Given the description of an element on the screen output the (x, y) to click on. 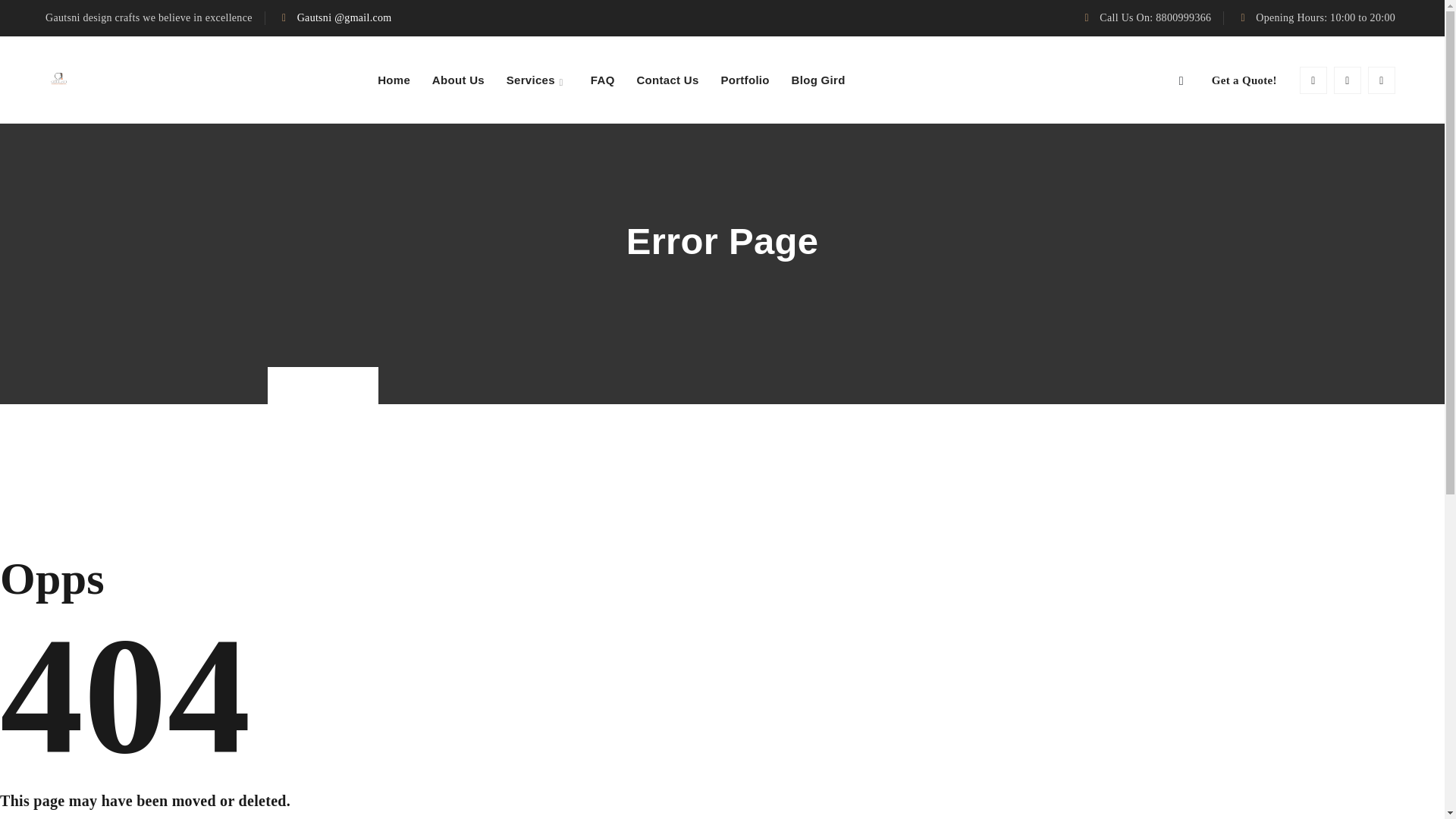
  Home (306, 384)
404 (356, 384)
Go to . (306, 384)
Get a Quote! (1243, 80)
Contact Us (666, 79)
Go to 404. (356, 384)
